Given the description of an element on the screen output the (x, y) to click on. 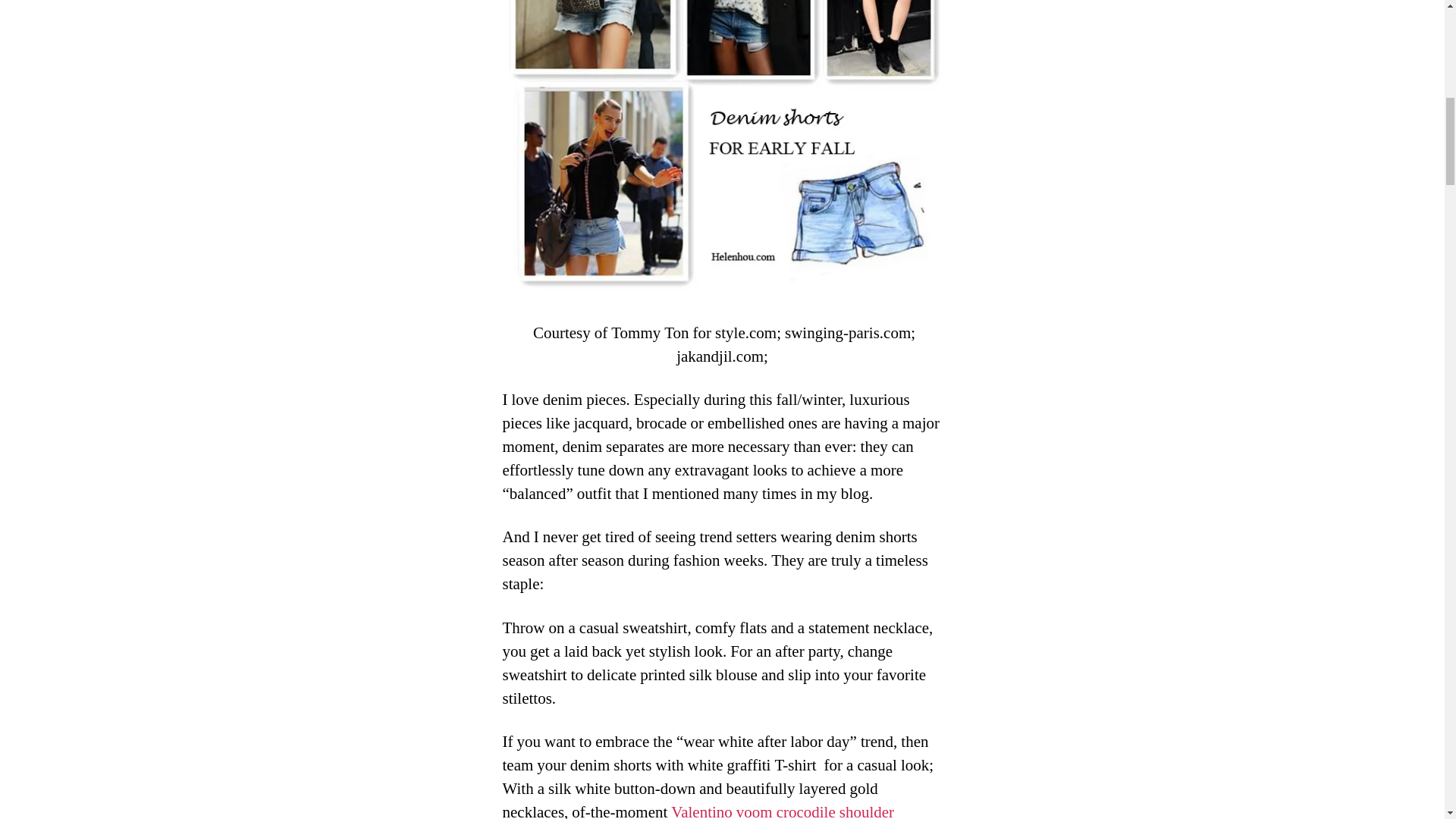
Valentino voom crocodile shoulder bag  (697, 810)
